Given the description of an element on the screen output the (x, y) to click on. 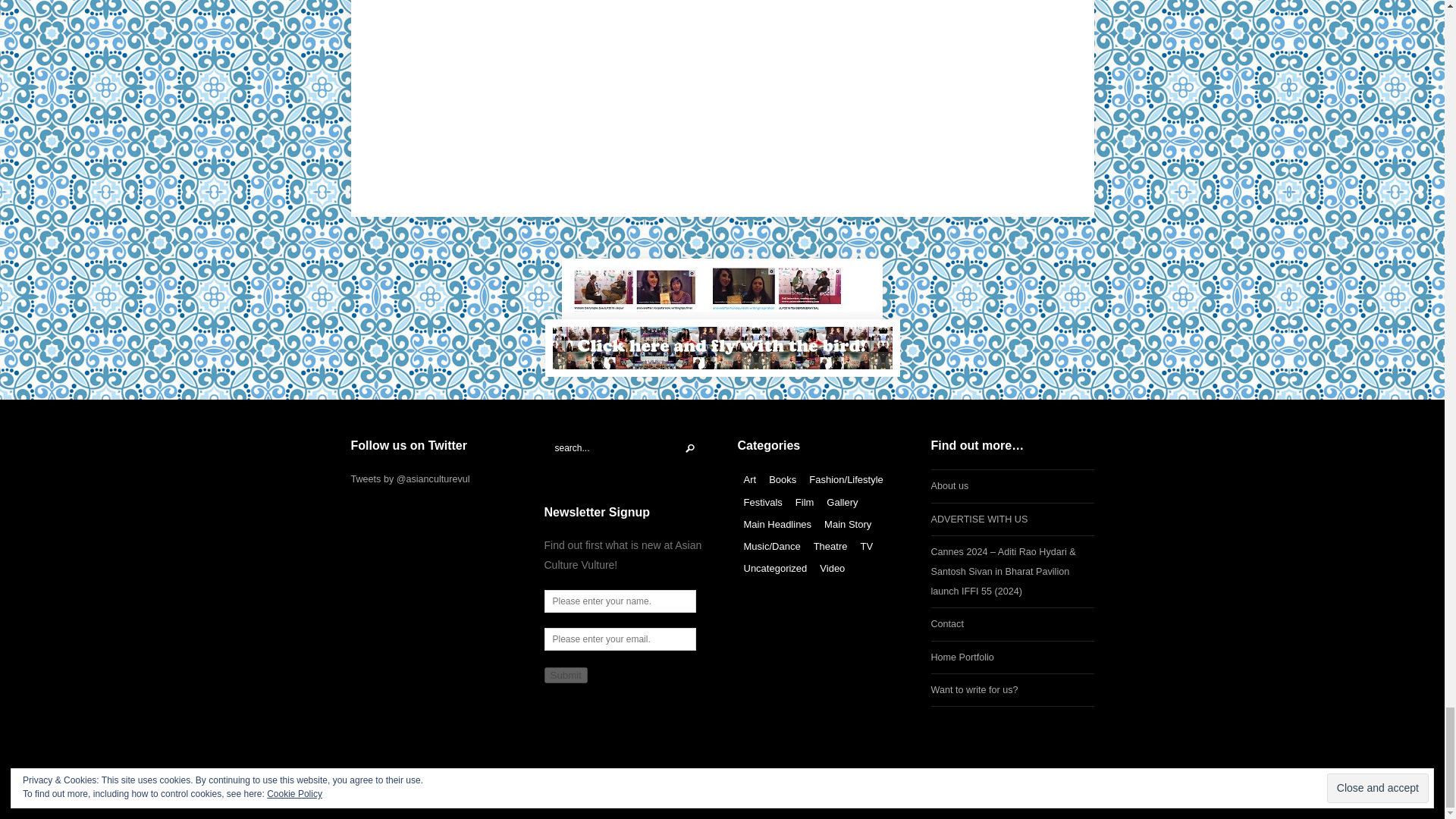
Submit (566, 675)
search... (625, 447)
search... (625, 447)
